Given the description of an element on the screen output the (x, y) to click on. 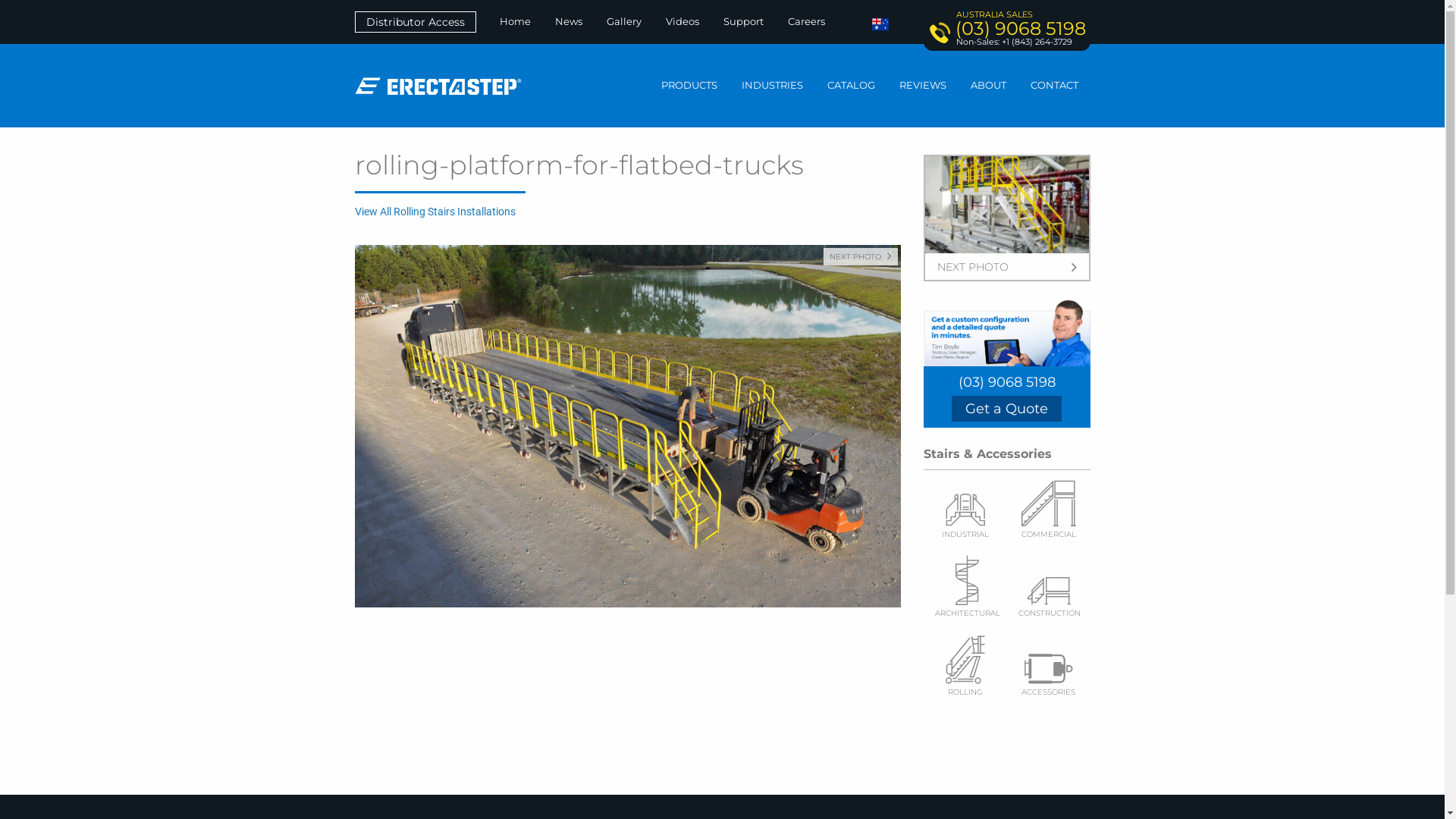
Careers Element type: text (806, 21)
PRODUCTS Element type: text (689, 85)
CATALOG Element type: text (850, 85)
Videos Element type: text (682, 21)
Distributor Access Element type: text (415, 21)
ABOUT Element type: text (988, 85)
INDUSTRIES Element type: text (772, 85)
CONTACT Element type: text (1053, 85)
Get a Quote Element type: text (1006, 408)
News Element type: text (568, 21)
View All Rolling Stairs Installations Element type: text (434, 211)
Home Element type: text (514, 21)
REVIEWS Element type: text (922, 85)
+1 (843) 264-3729 Element type: text (1036, 41)
Get a Quote Element type: text (1006, 408)
Gallery Element type: text (623, 21)
Support Element type: text (743, 21)
